Given the description of an element on the screen output the (x, y) to click on. 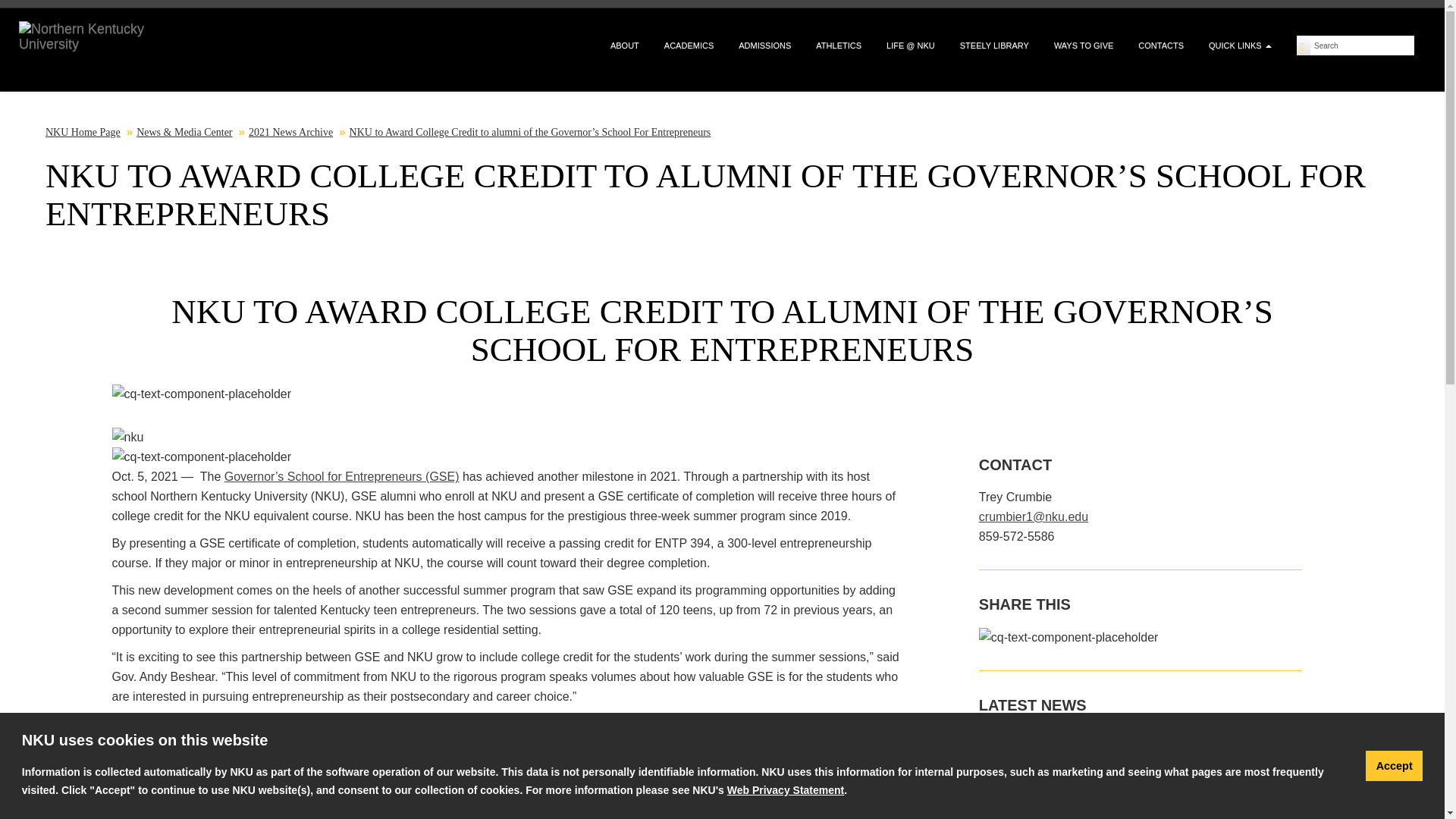
Search (1361, 45)
STEELY LIBRARY (994, 45)
NKU Home Page (82, 132)
CONTACTS (1161, 45)
ATHLETICS (838, 45)
Search (1361, 45)
ABOUT (625, 45)
ADMISSIONS (765, 45)
